Given the description of an element on the screen output the (x, y) to click on. 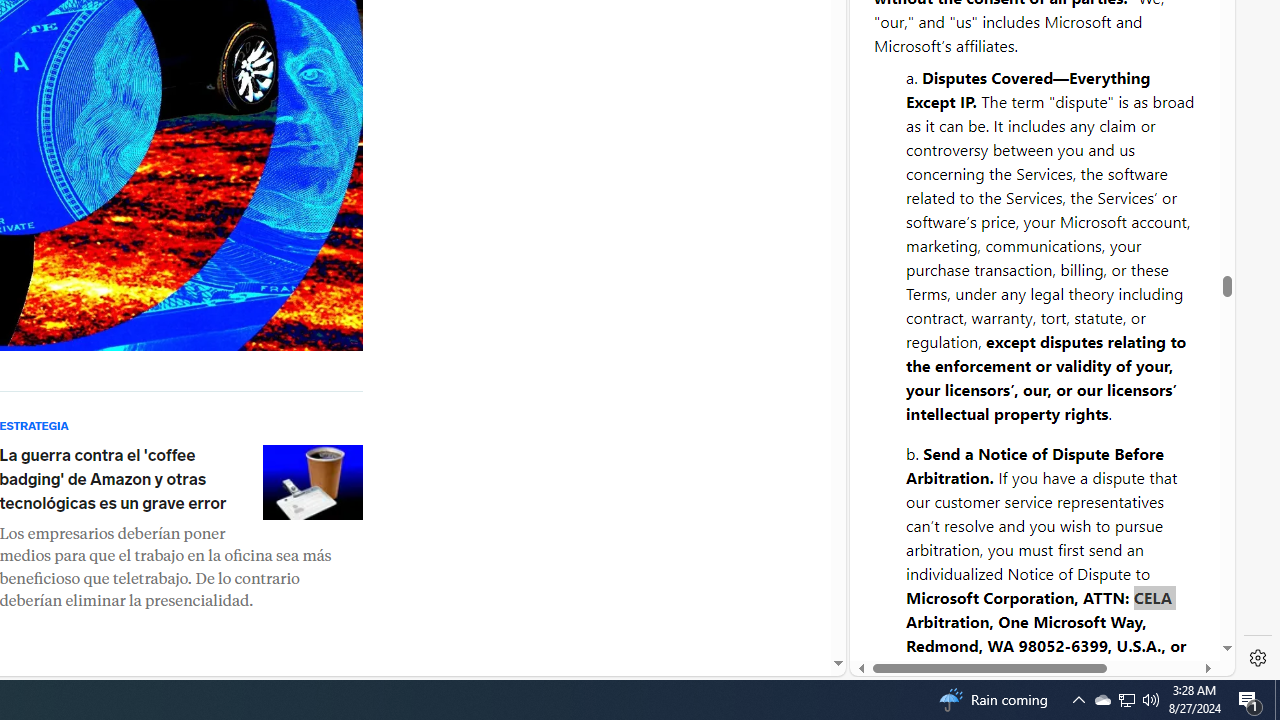
Legal (992, 611)
Open in New Tab (1042, 631)
Coffee Badgings (312, 481)
Privacy (922, 602)
Legal (991, 602)
Privacy (922, 611)
